Given the description of an element on the screen output the (x, y) to click on. 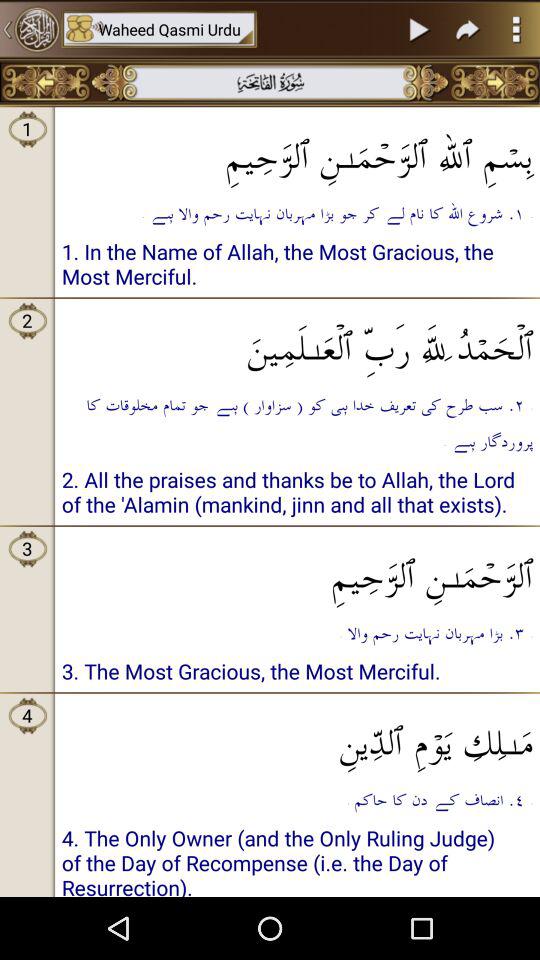
goes to the next page (494, 82)
